Given the description of an element on the screen output the (x, y) to click on. 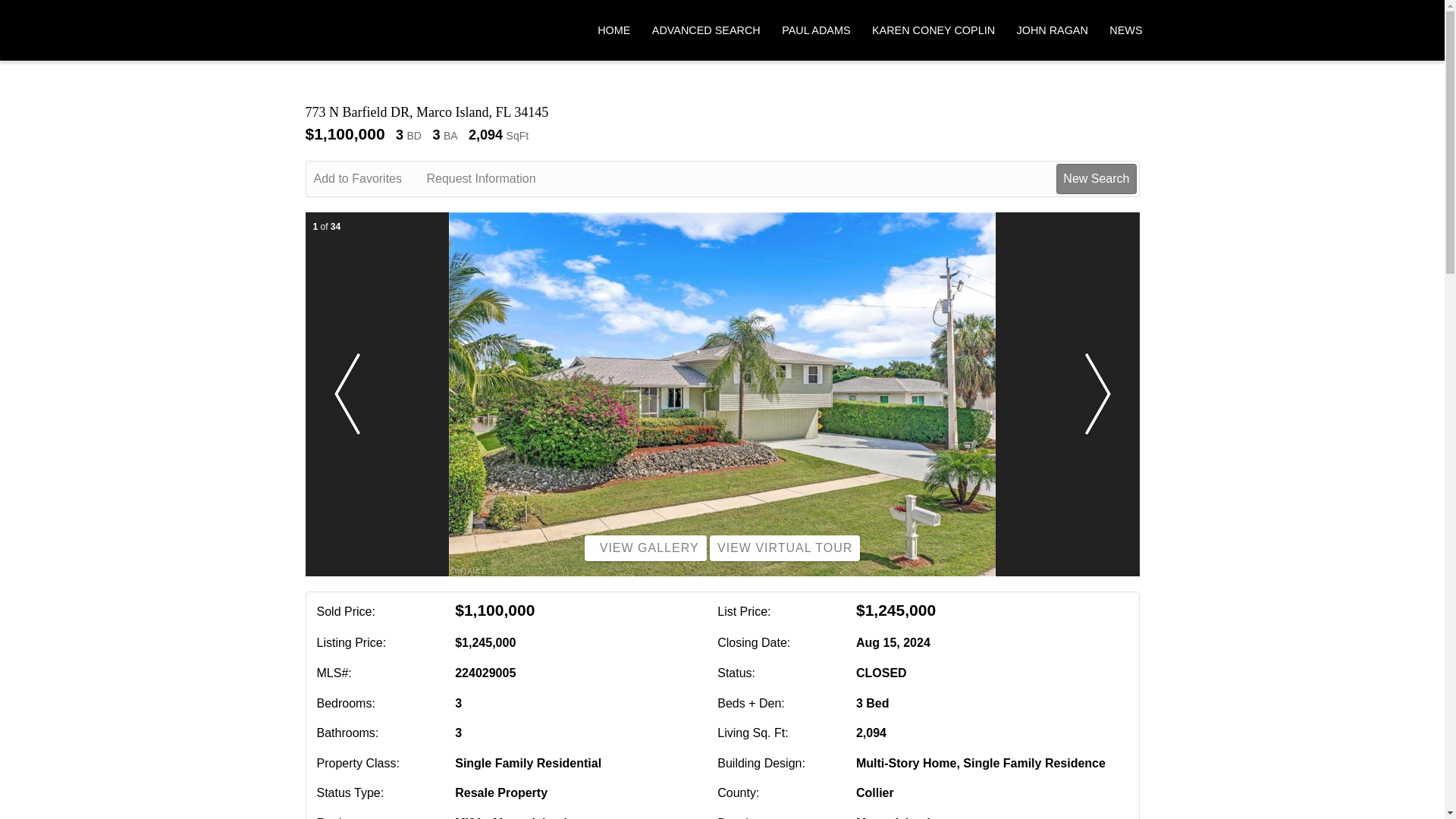
KAREN CONEY COPLIN (933, 30)
VIEW VIRTUAL TOUR (785, 547)
JOHN RAGAN (1051, 30)
New Search (1096, 178)
VIEW GALLERY (645, 548)
Request Information (491, 178)
HOME (613, 30)
VIEW VIRTUAL TOUR (785, 548)
ADVANCED SEARCH (706, 30)
NEWS (1125, 30)
